Given the description of an element on the screen output the (x, y) to click on. 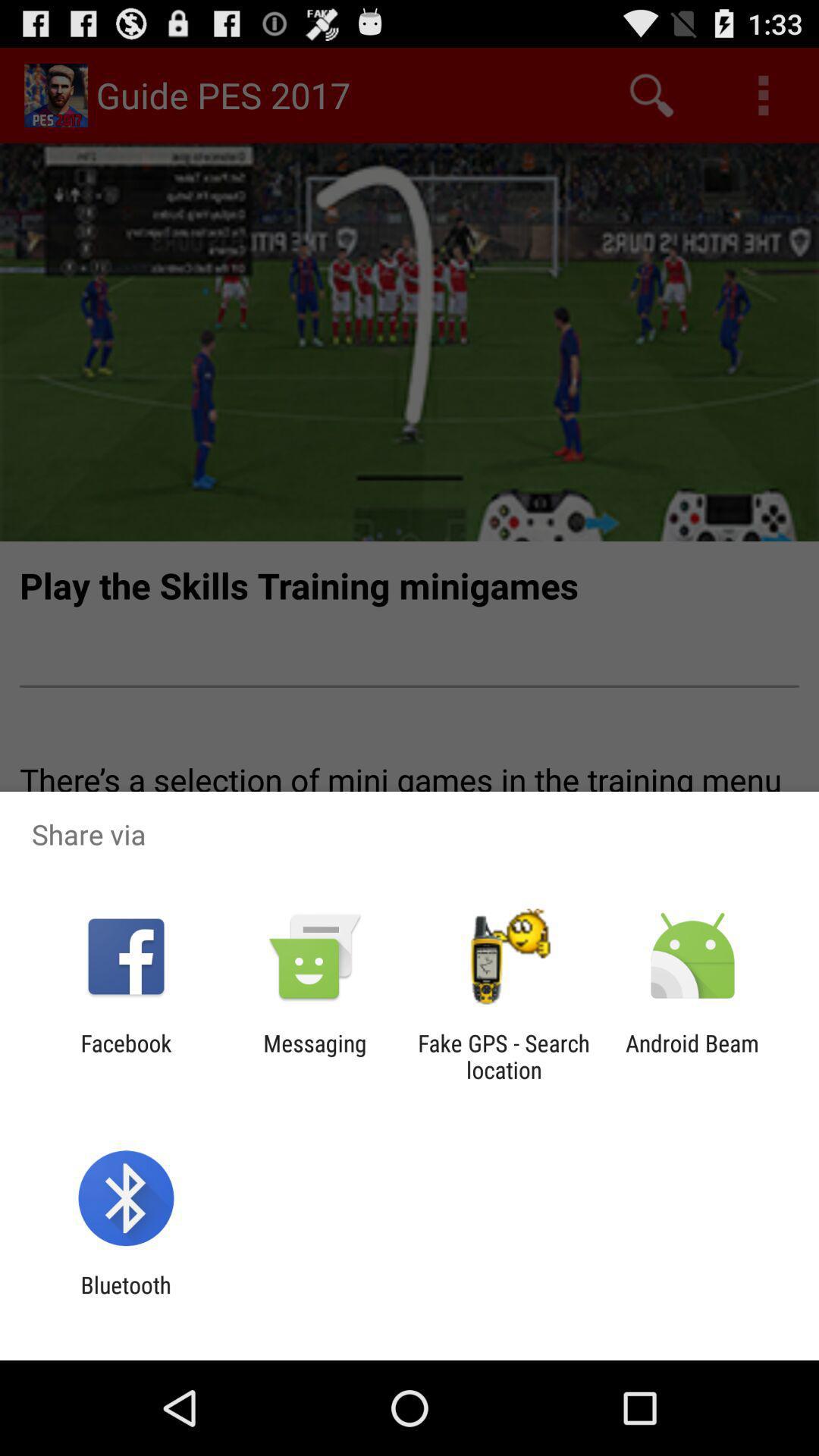
open icon to the left of the messaging item (125, 1056)
